Given the description of an element on the screen output the (x, y) to click on. 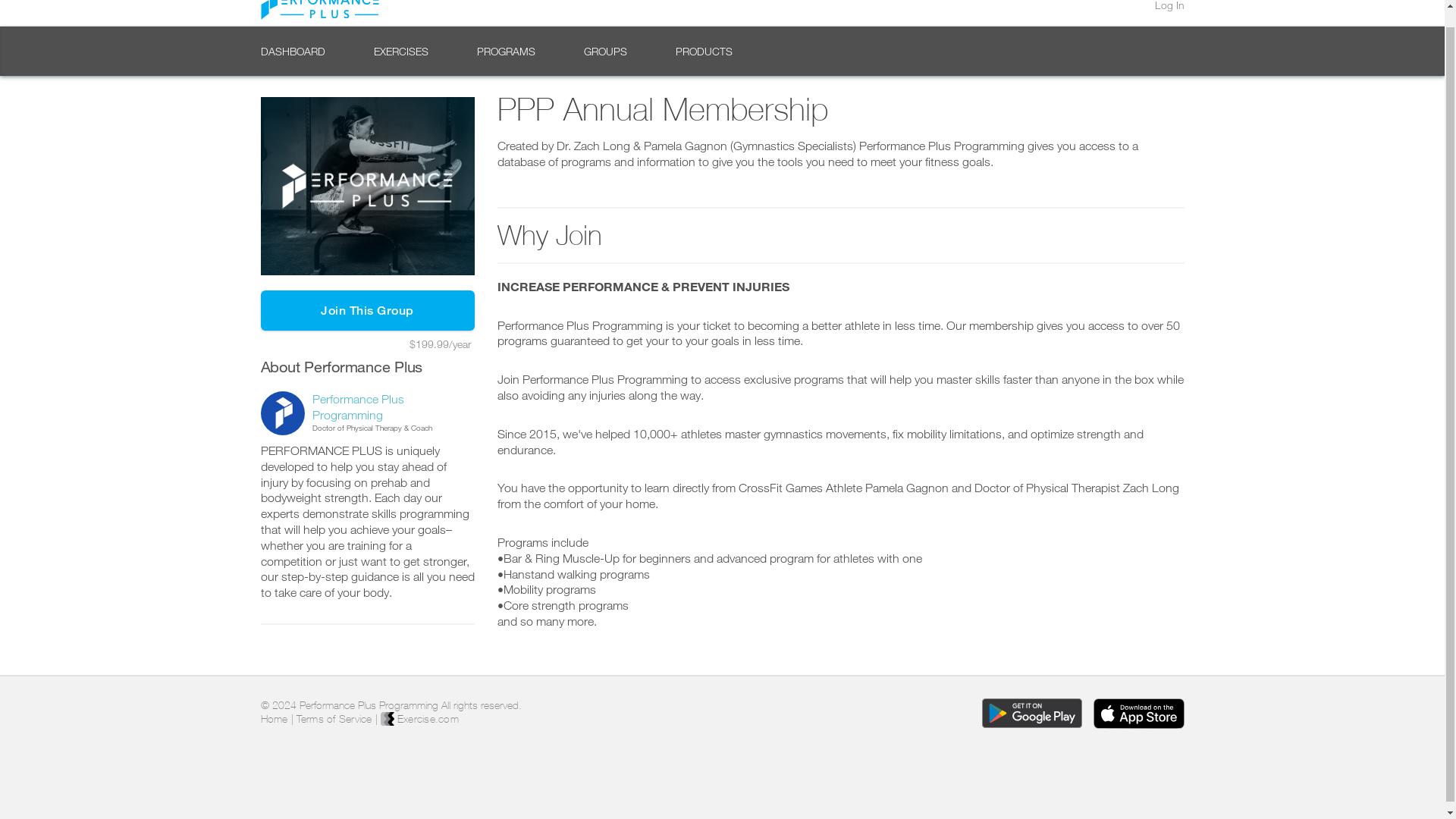
EXERCISES (400, 51)
PRODUCTS (703, 51)
Terms of Service (333, 718)
Join This Group (367, 310)
Log In (1168, 5)
DASHBOARD (292, 51)
Home (274, 718)
Performance Plus Programming (358, 406)
Exercise.com (419, 718)
PROGRAMS (505, 51)
